Given the description of an element on the screen output the (x, y) to click on. 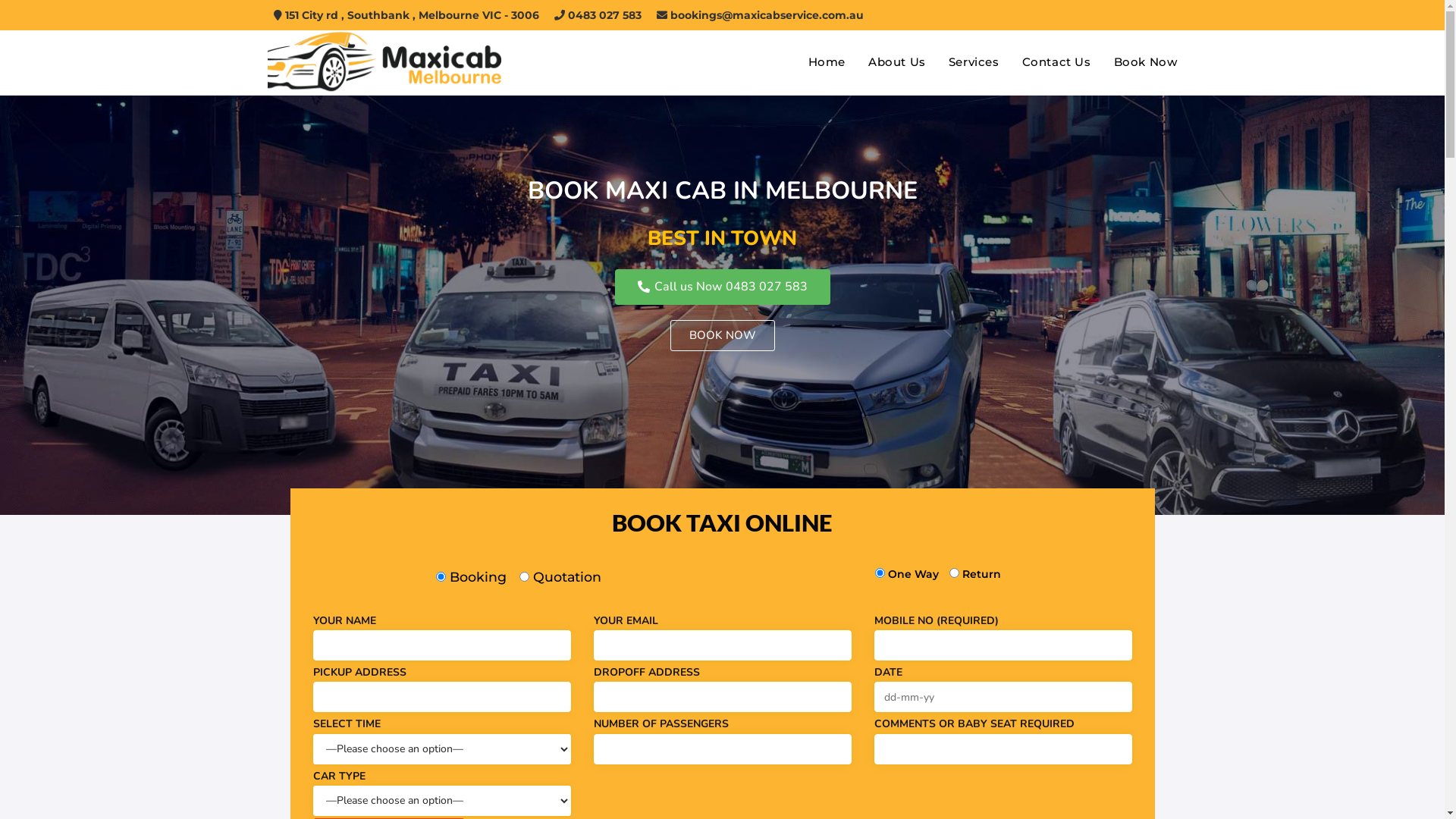
0483 027 583 Element type: text (596, 14)
Home Element type: text (826, 61)
151 City rd , Southbank , Melbourne VIC - 3006 Element type: text (405, 14)
Services Element type: text (973, 61)
Call us Now 0483 027 583 Element type: text (721, 286)
BOOK NOW Element type: text (722, 335)
Contact Us Element type: text (1056, 61)
Book Now Element type: text (1145, 61)
About Us Element type: text (896, 61)
bookings@maxicabservice.com.au Element type: text (759, 14)
